Given the description of an element on the screen output the (x, y) to click on. 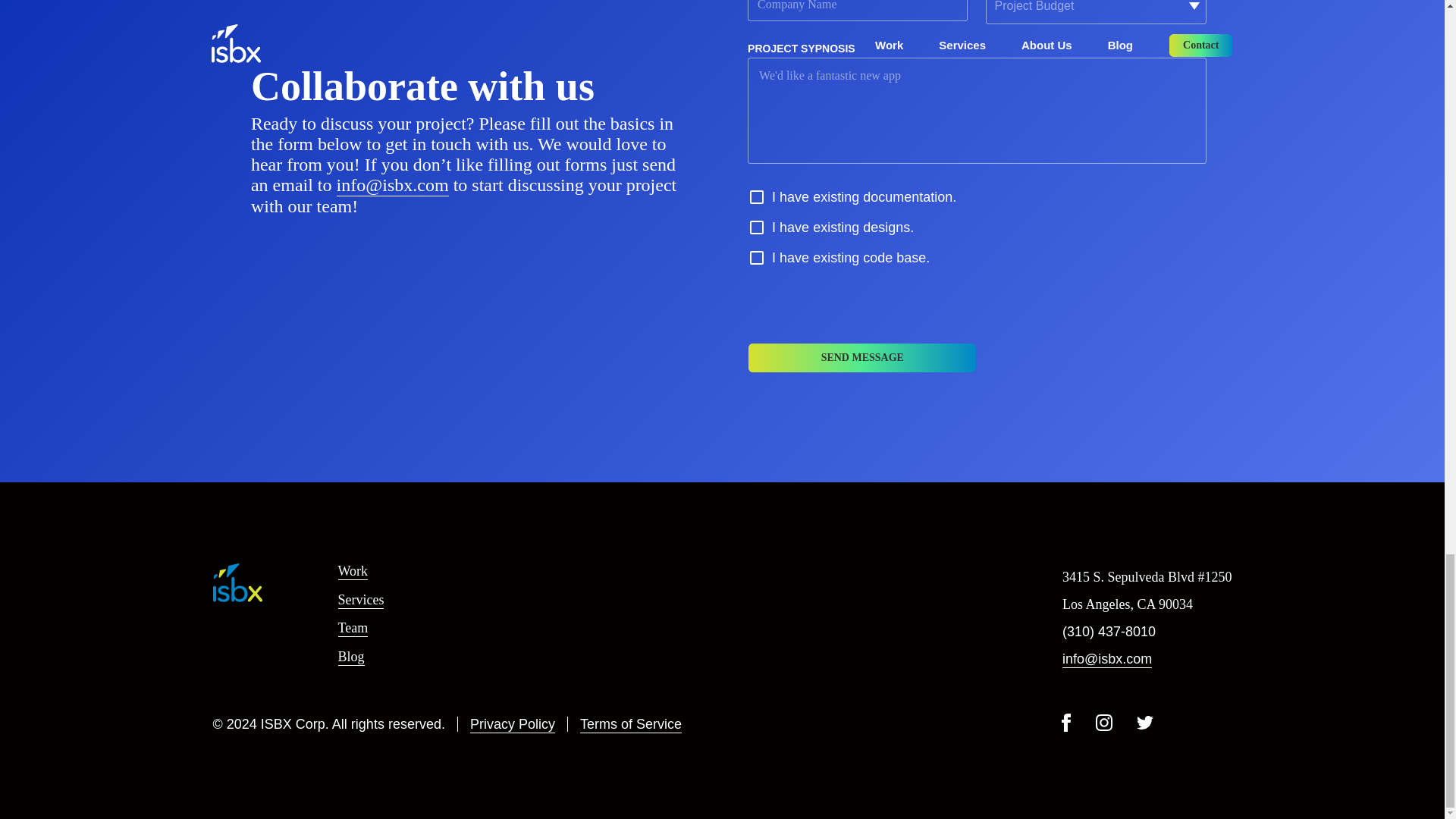
Services (360, 599)
Blog (351, 657)
Team (352, 628)
ISBX Twitter (1144, 724)
Terms of Service (630, 724)
Work (352, 571)
SEND MESSAGE (862, 358)
Privacy Policy (512, 724)
